Given the description of an element on the screen output the (x, y) to click on. 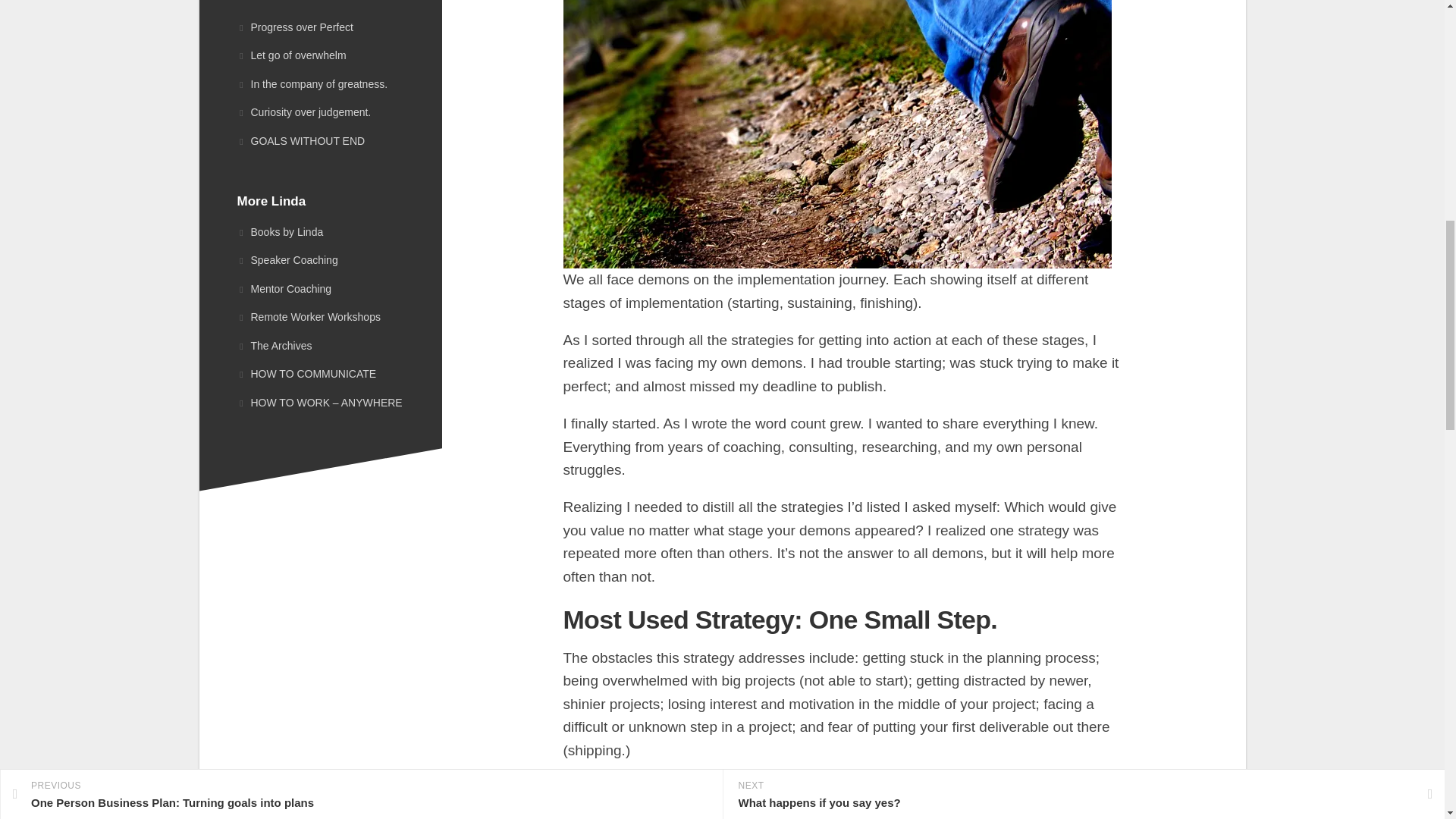
Progress over Perfect (293, 27)
Let go of overwhelm (290, 55)
Curiosity over judgement. (303, 111)
HOW TO COMMUNICATE (319, 374)
Mentor Coaching (319, 289)
GOALS WITHOUT END (300, 141)
Books by Linda (319, 232)
The Archives (319, 346)
In the company of greatness. (311, 83)
Remote Worker Workshops (319, 317)
Speaker Coaching (319, 260)
